Given the description of an element on the screen output the (x, y) to click on. 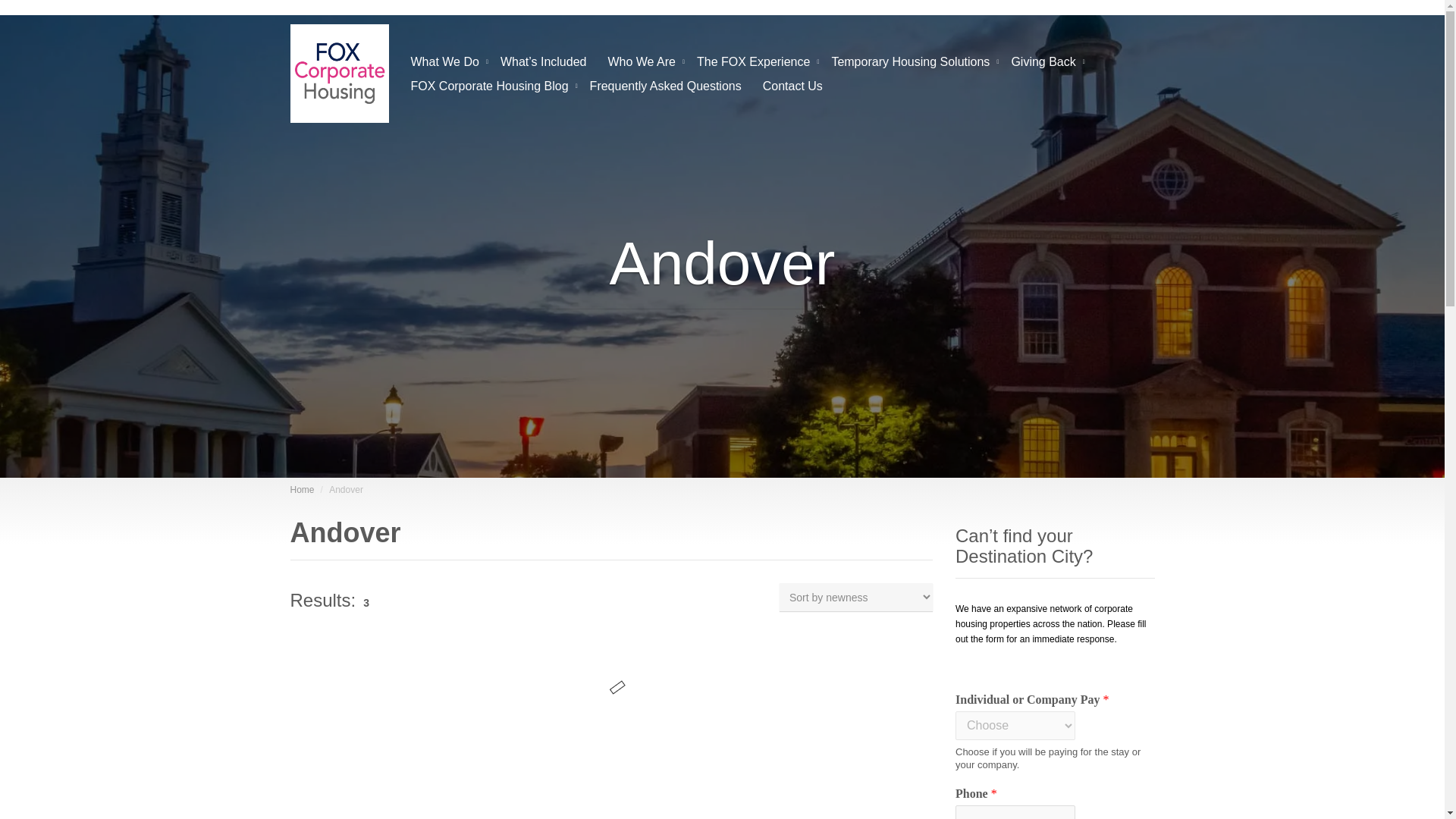
Who We Are (640, 60)
FOX Corporate Housing Blog (489, 84)
Contact Us (792, 84)
Temporary Housing Solutions (910, 60)
Price on request (339, 785)
1-844-440-4369 (363, 9)
Home (301, 489)
Corporate Housing, Short-term housing, Furnished Apartments (338, 73)
The FOX Experience (753, 60)
FOX Corporate Housing (301, 489)
